Given the description of an element on the screen output the (x, y) to click on. 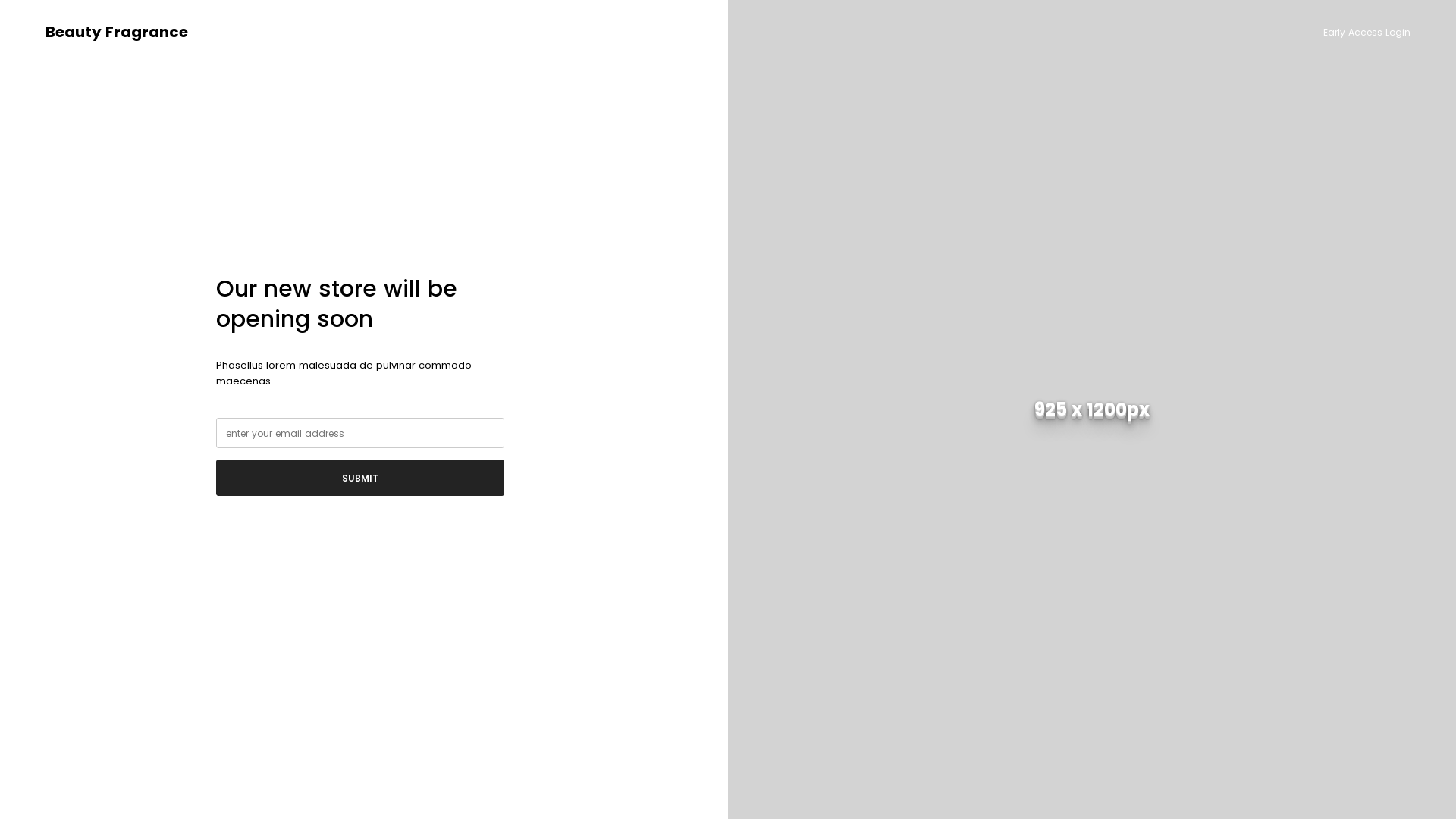
Beauty Fragrance Element type: text (116, 31)
Submit Element type: text (360, 477)
